Given the description of an element on the screen output the (x, y) to click on. 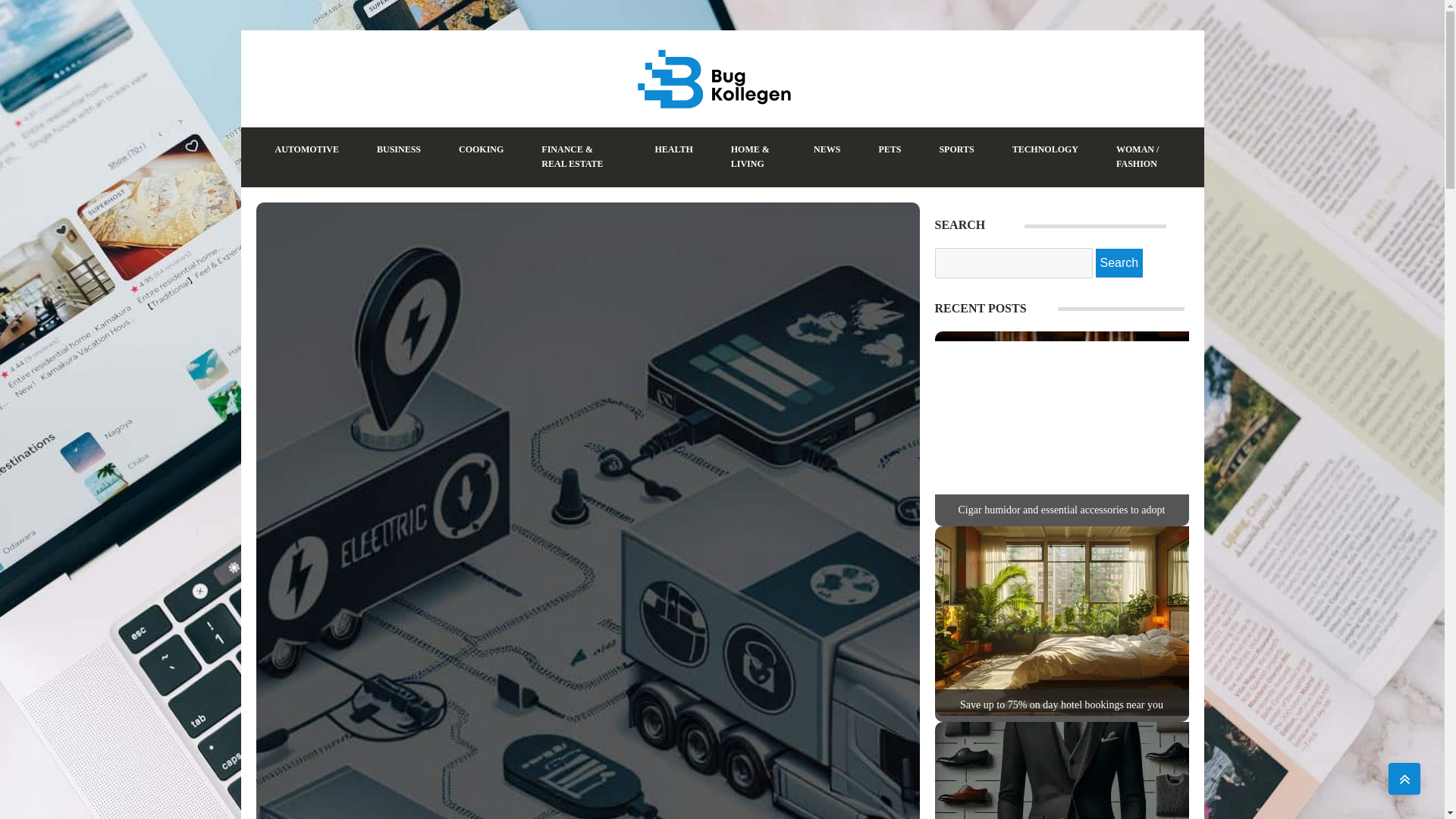
NEWS (826, 149)
AUTOMOTIVE (307, 149)
SPORTS (956, 149)
PETS (889, 149)
HEALTH (672, 149)
COOKING (480, 149)
BUSINESS (398, 149)
